Given the description of an element on the screen output the (x, y) to click on. 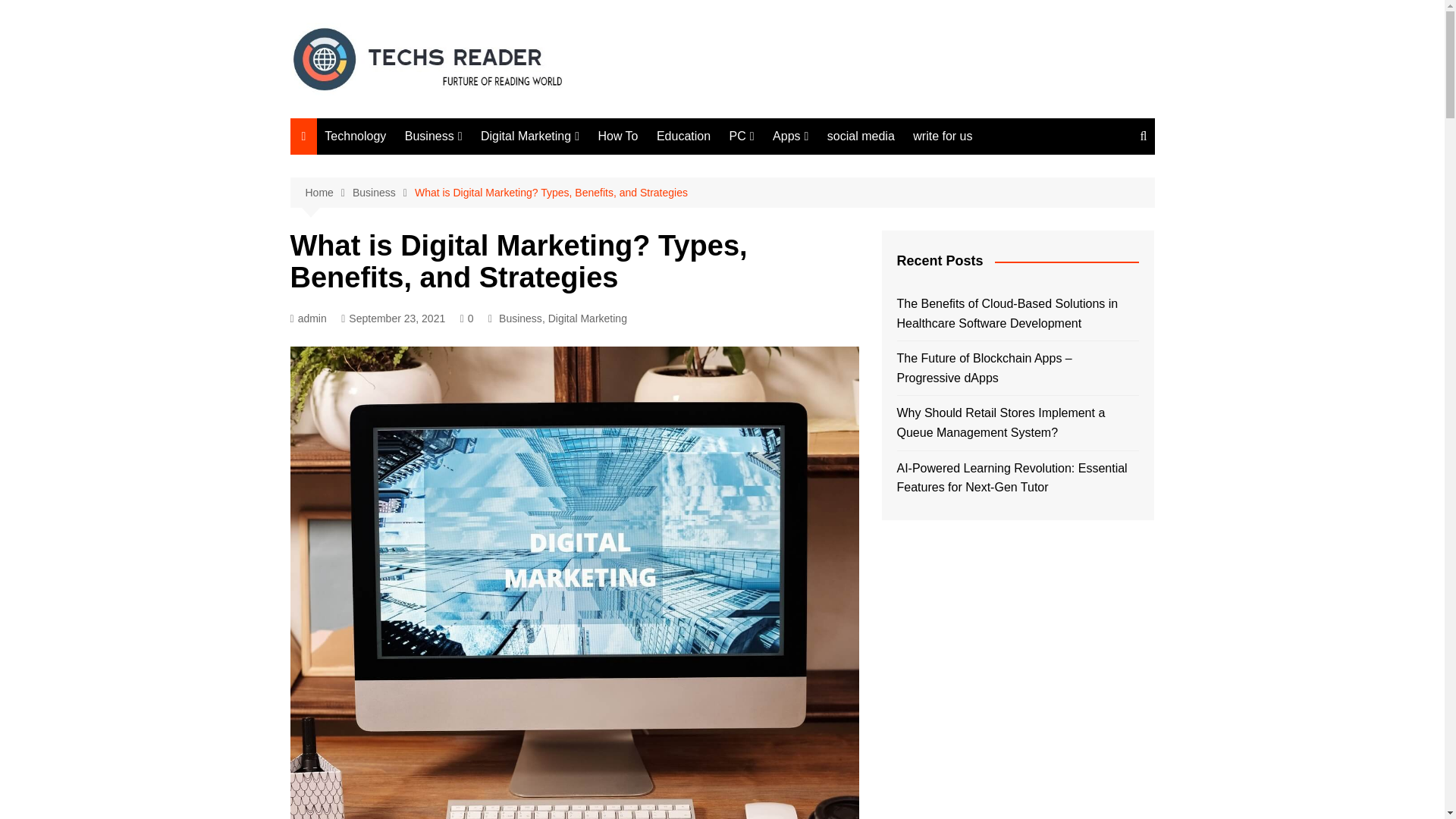
windows (805, 192)
Mobiles (971, 217)
Outlook (971, 191)
Finance (480, 166)
How To (617, 135)
social media (860, 135)
Apps (790, 135)
Marketing (480, 191)
Business (520, 318)
Education (683, 135)
